Given the description of an element on the screen output the (x, y) to click on. 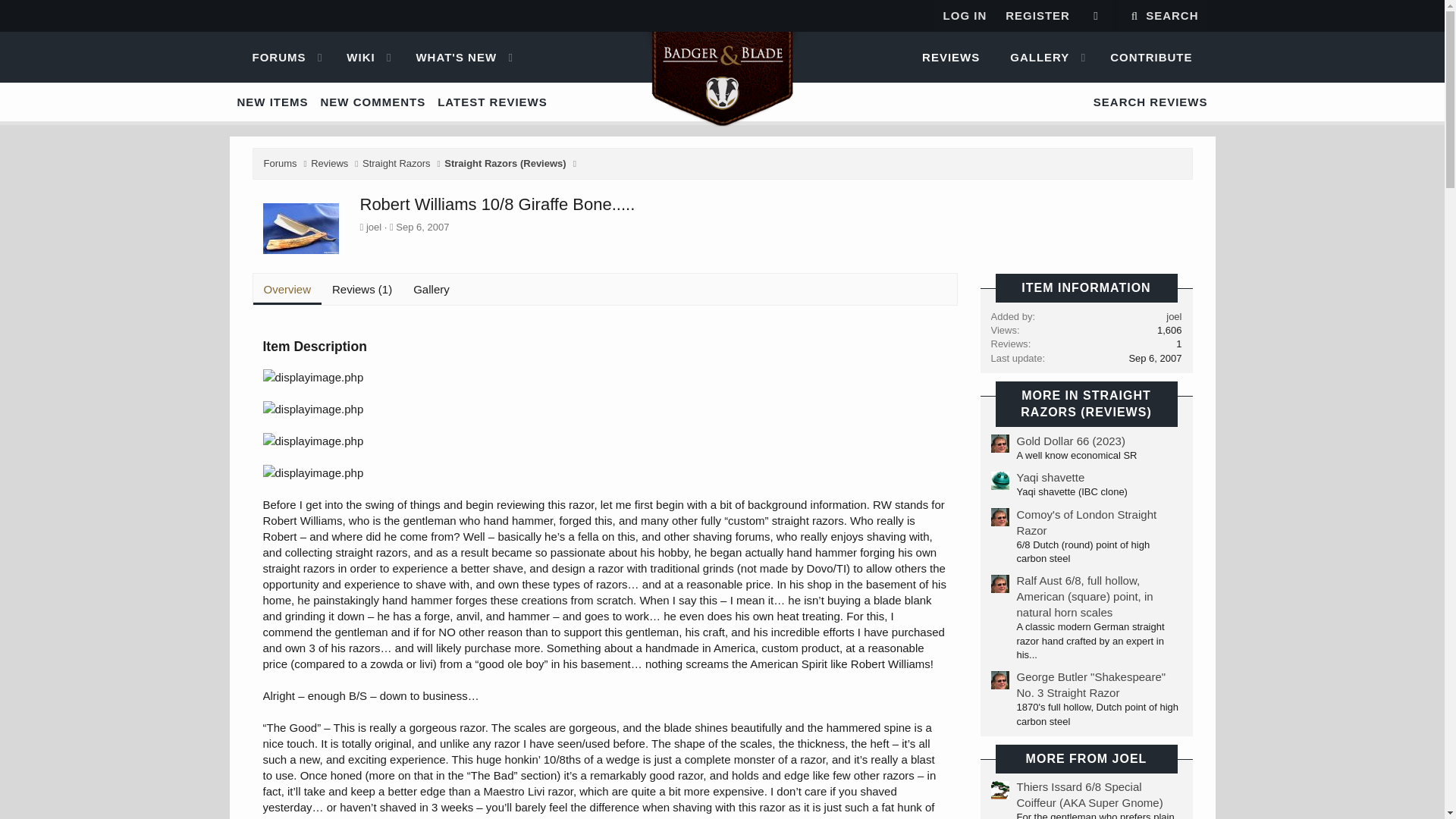
FORUMS (721, 56)
Lights off! (721, 56)
WHAT'S NEW (271, 56)
WIKI (1095, 15)
displayimage.php (448, 56)
Search (354, 56)
GALLERY (312, 472)
Wiki (1163, 15)
REVIEWS (1032, 56)
REGISTER (354, 56)
displayimage.php (721, 101)
displayimage.php (950, 56)
